Given the description of an element on the screen output the (x, y) to click on. 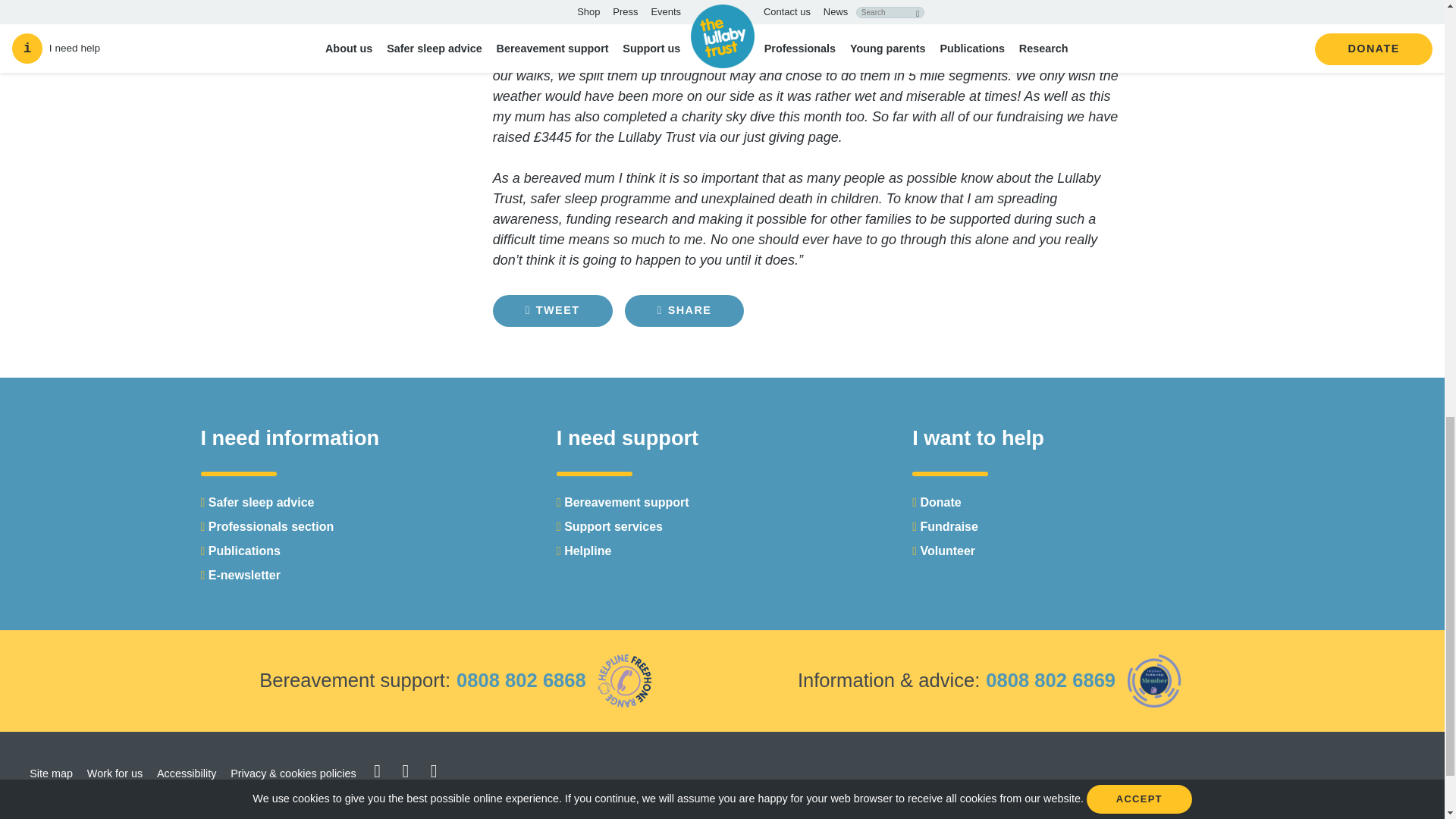
Instagram (434, 770)
Twitter (377, 770)
Facebook (406, 770)
